Given the description of an element on the screen output the (x, y) to click on. 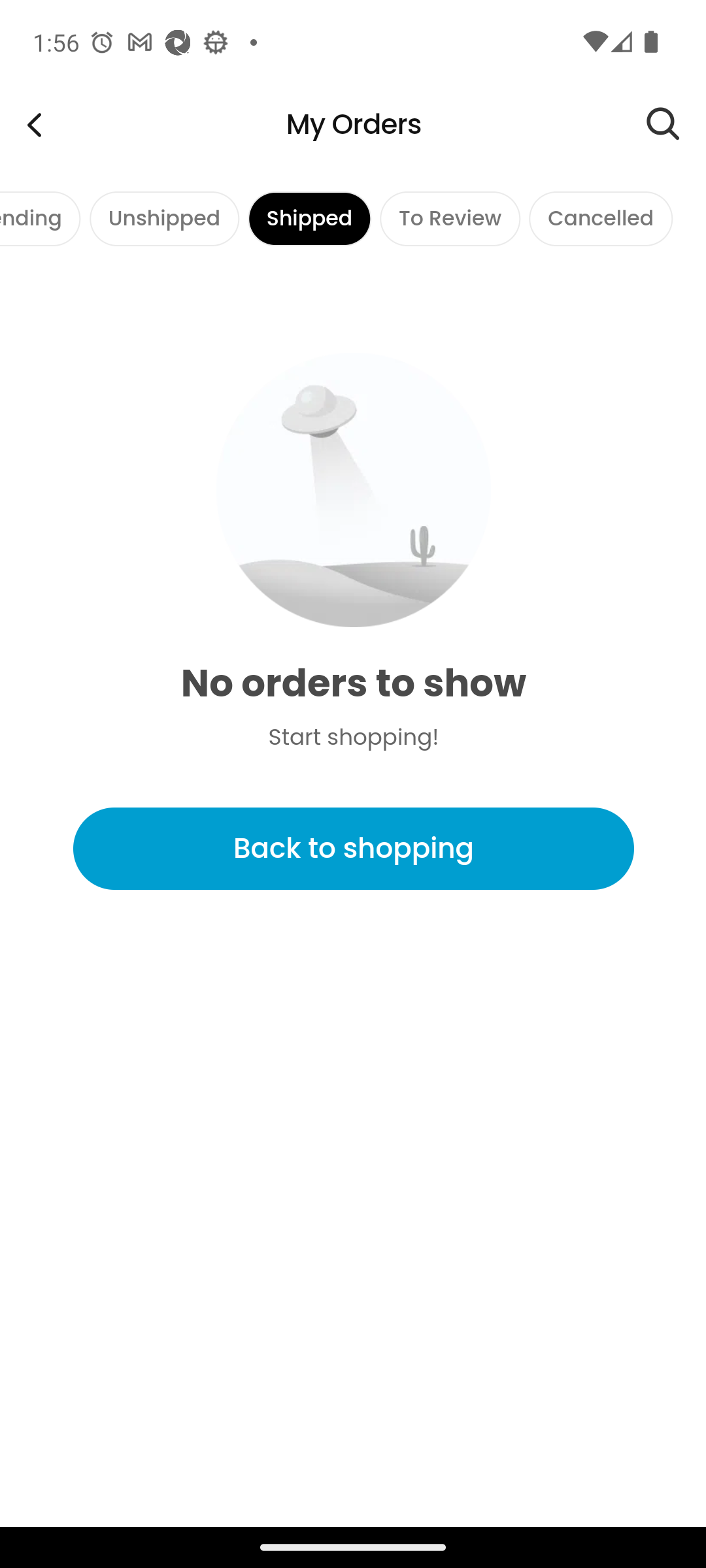
Weee! - Groceries Delivered (33, 124)
 (675, 124)
Pending (41, 218)
Unshipped (163, 218)
Unshipped (163, 218)
Shipped (309, 218)
Shipped (309, 218)
To Review (450, 218)
To Review (450, 218)
Cancelled (600, 218)
Cancelled (600, 218)
Back to shopping (353, 848)
